Given the description of an element on the screen output the (x, y) to click on. 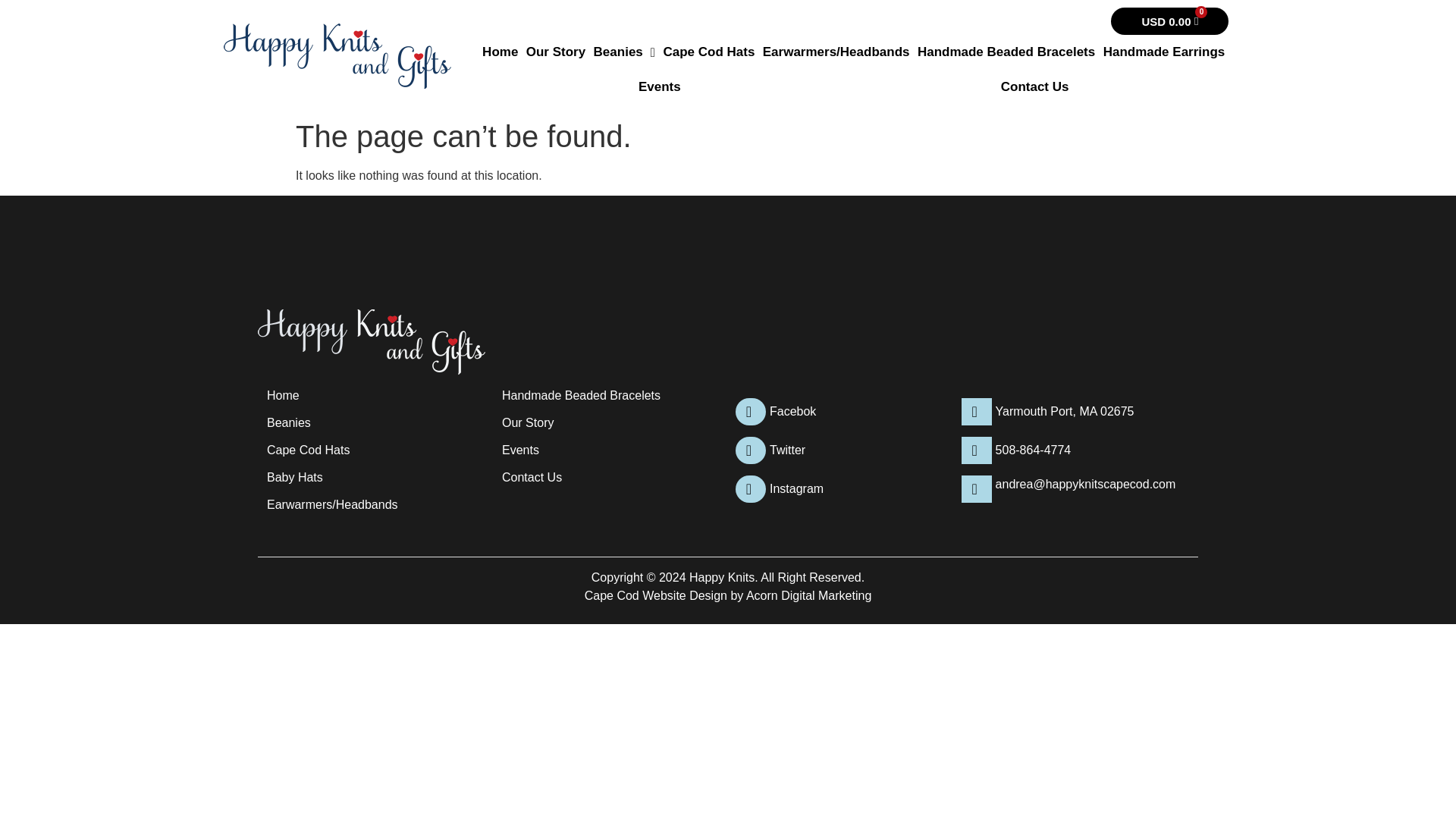
Home (500, 52)
Contact Us (1169, 21)
Beanies (1034, 86)
Our Story (624, 52)
Events (555, 52)
Handmade Earrings (660, 86)
Cape Cod Hats (1163, 52)
Handmade Beaded Bracelets (708, 52)
